Given the description of an element on the screen output the (x, y) to click on. 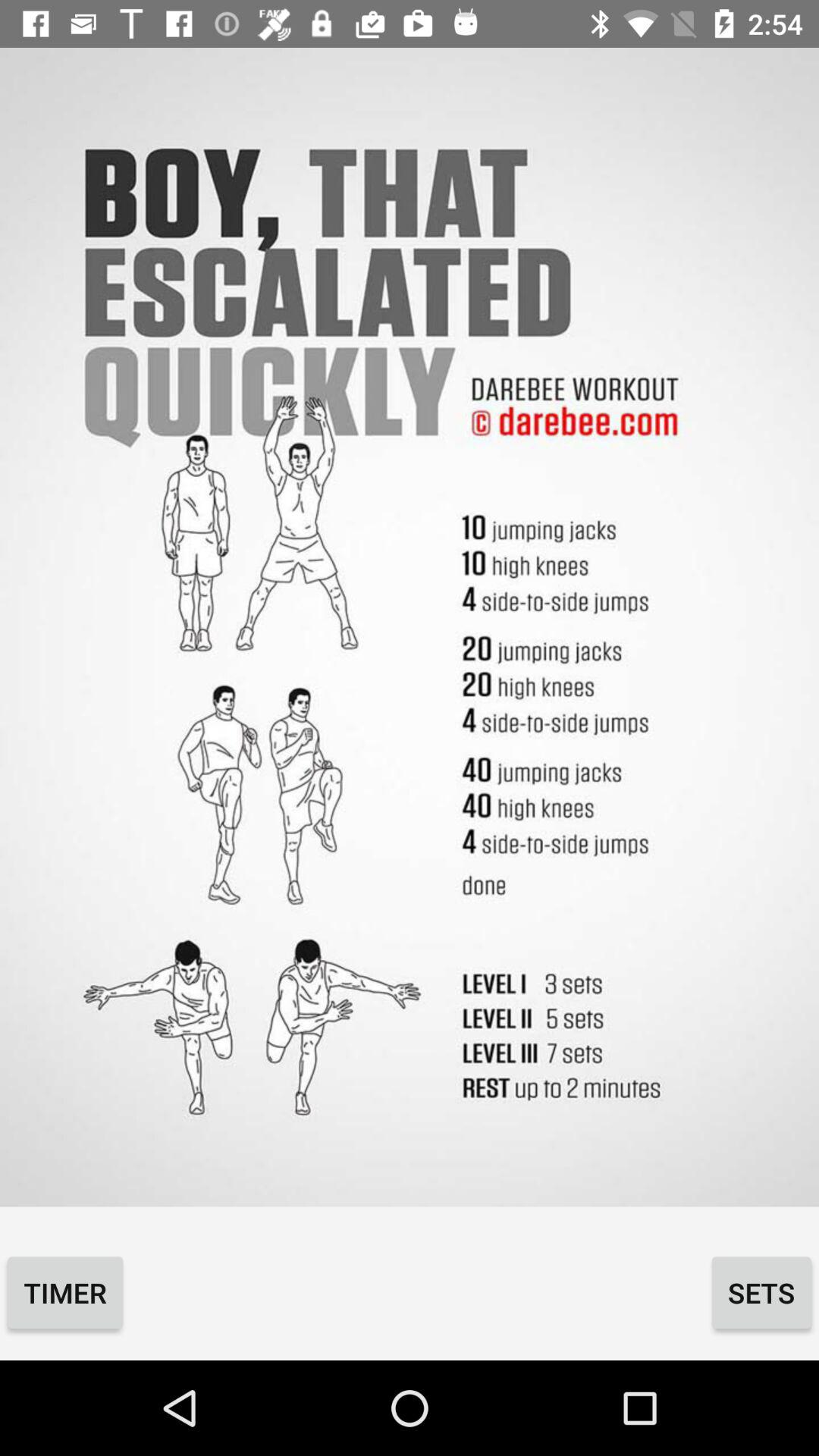
turn on sets icon (761, 1292)
